Given the description of an element on the screen output the (x, y) to click on. 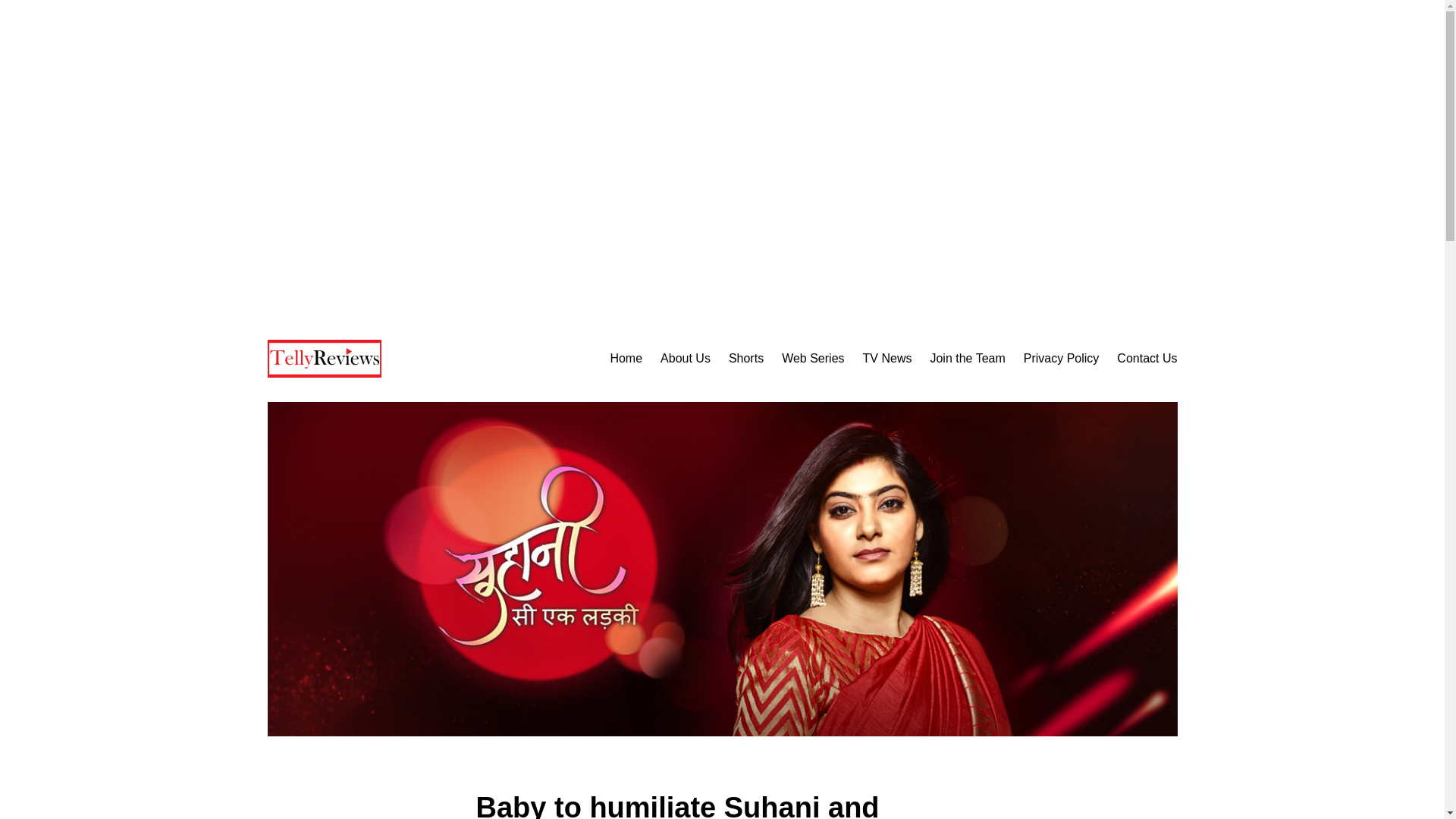
Privacy Policy (1061, 358)
About Us (685, 358)
Shorts (745, 358)
Join the Team (967, 358)
TV News (887, 358)
Contact Us (1146, 358)
Home (626, 358)
Web Series (812, 358)
